Given the description of an element on the screen output the (x, y) to click on. 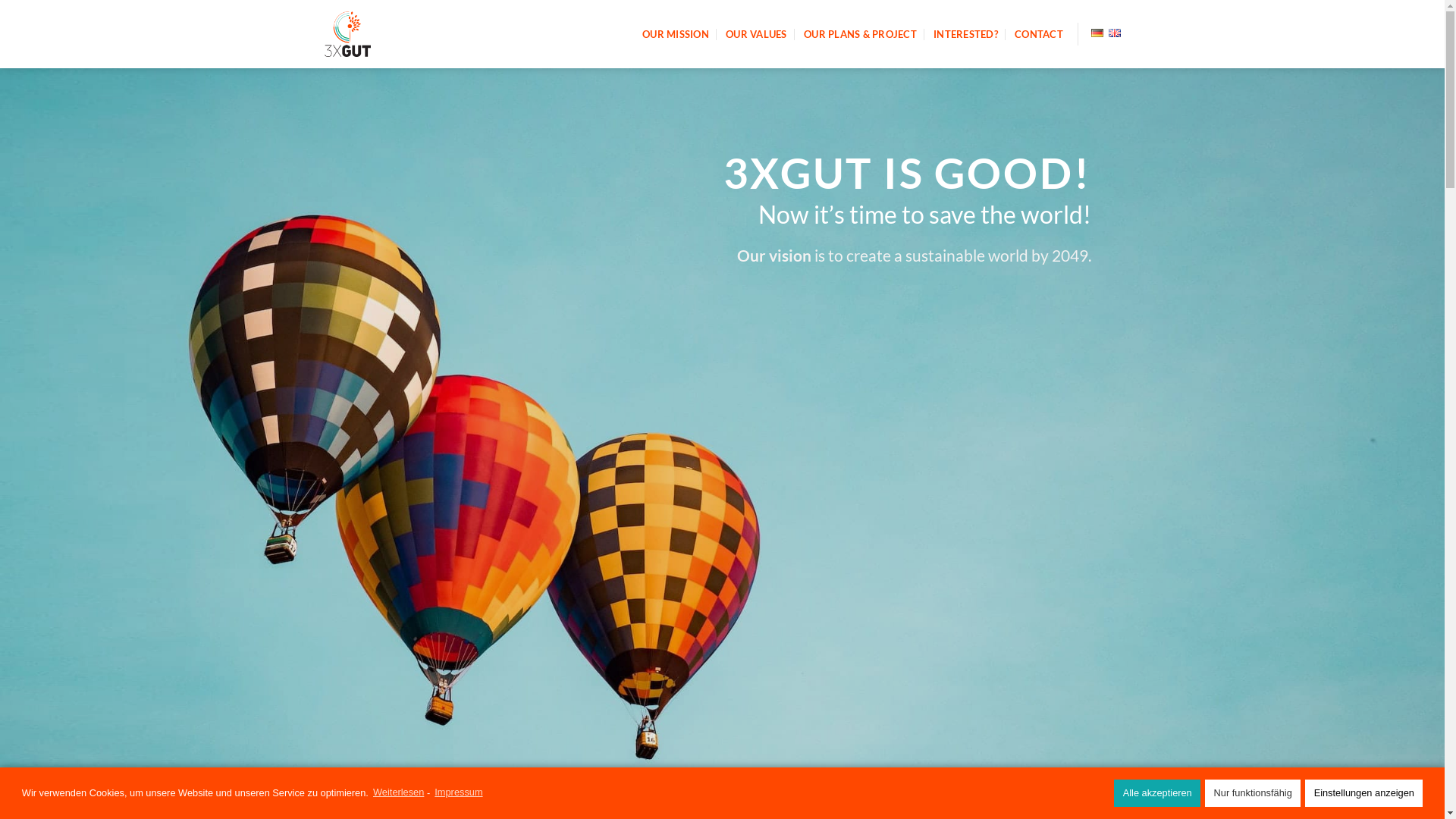
OUR VALUES Element type: text (756, 33)
English Element type: hover (1114, 32)
CONTACT Element type: text (1038, 33)
OUR PLANS & PROJECT Element type: text (859, 33)
OUR MISSION Element type: text (675, 33)
INTERESTED? Element type: text (965, 33)
Einstellungen anzeigen Element type: text (1363, 792)
Impressum Element type: text (458, 793)
Weiterlesen Element type: text (396, 793)
Alle akzeptieren Element type: text (1156, 792)
Deutsch Element type: hover (1097, 32)
Skip to content Element type: text (0, 0)
